Given the description of an element on the screen output the (x, y) to click on. 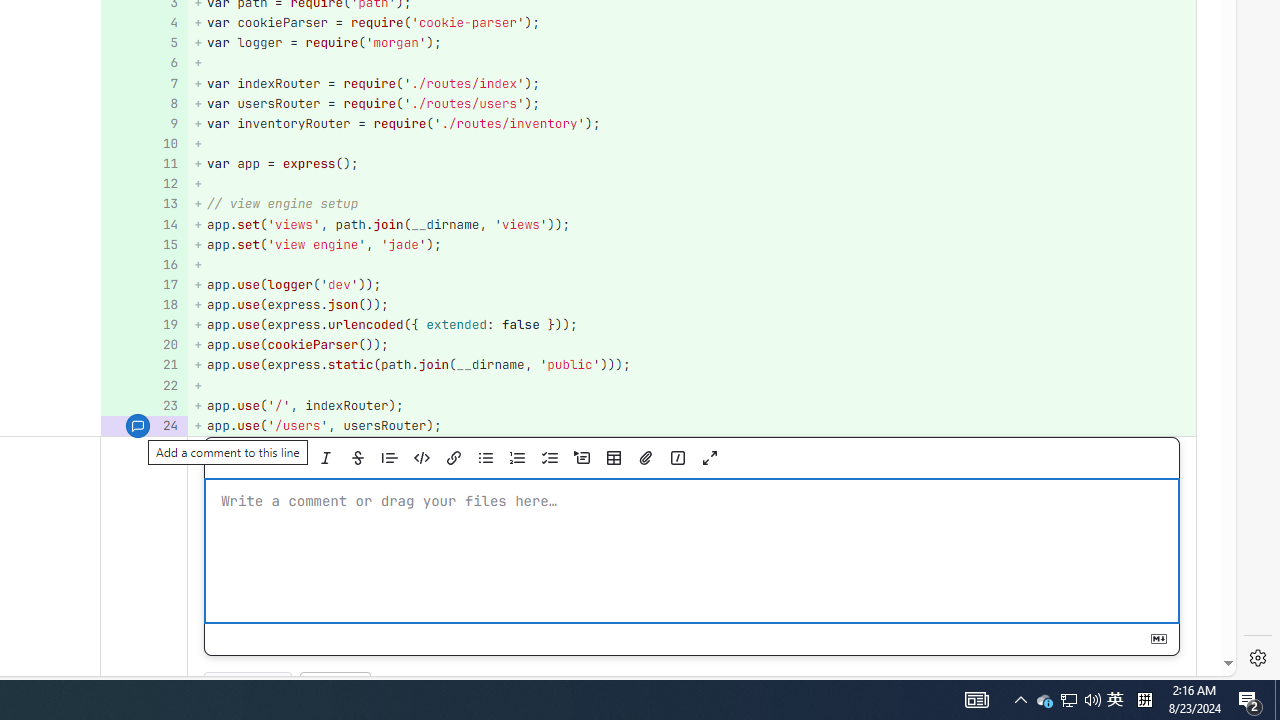
18 (141, 305)
Add a comment to this line 23 (144, 405)
Add a checklist (549, 457)
Add a comment to this line (138, 425)
+ app.use('/', indexRouter);  (691, 405)
+  (691, 385)
Add a collapsible section (581, 457)
Class: s12 (137, 425)
Add a link (Ctrl+K) (453, 457)
17 (141, 284)
Add a comment to this line 20 (144, 344)
Add bold text (Ctrl+B) (293, 457)
13 (141, 204)
7 (141, 83)
